Given the description of an element on the screen output the (x, y) to click on. 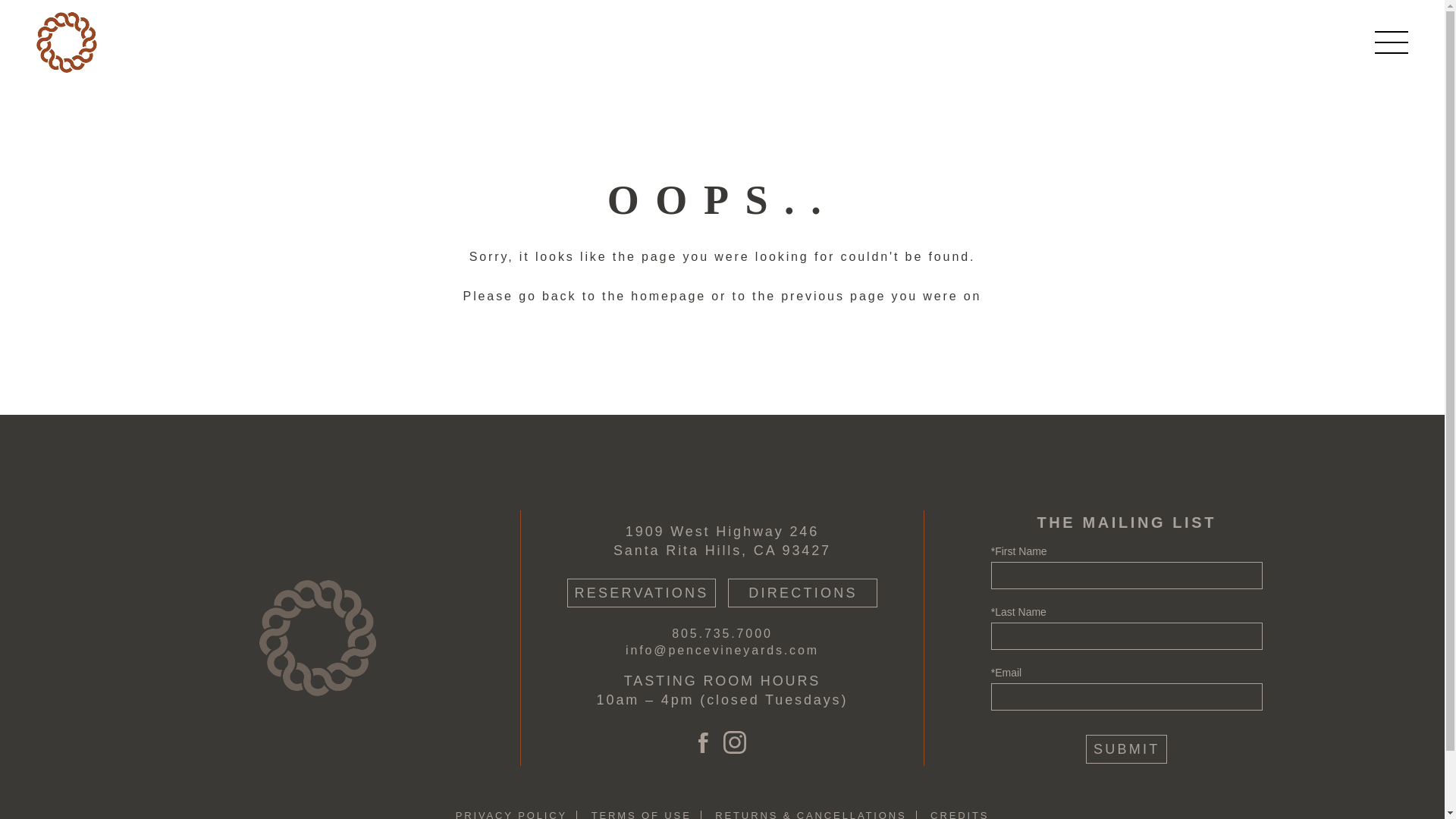
TERMS OF USE (641, 814)
SUBMIT (1126, 748)
805.735.7000 (721, 633)
RESERVATIONS (641, 592)
CREDITS (959, 814)
homepage (668, 295)
DIRECTIONS (802, 592)
PRIVACY POLICY (511, 814)
